Given the description of an element on the screen output the (x, y) to click on. 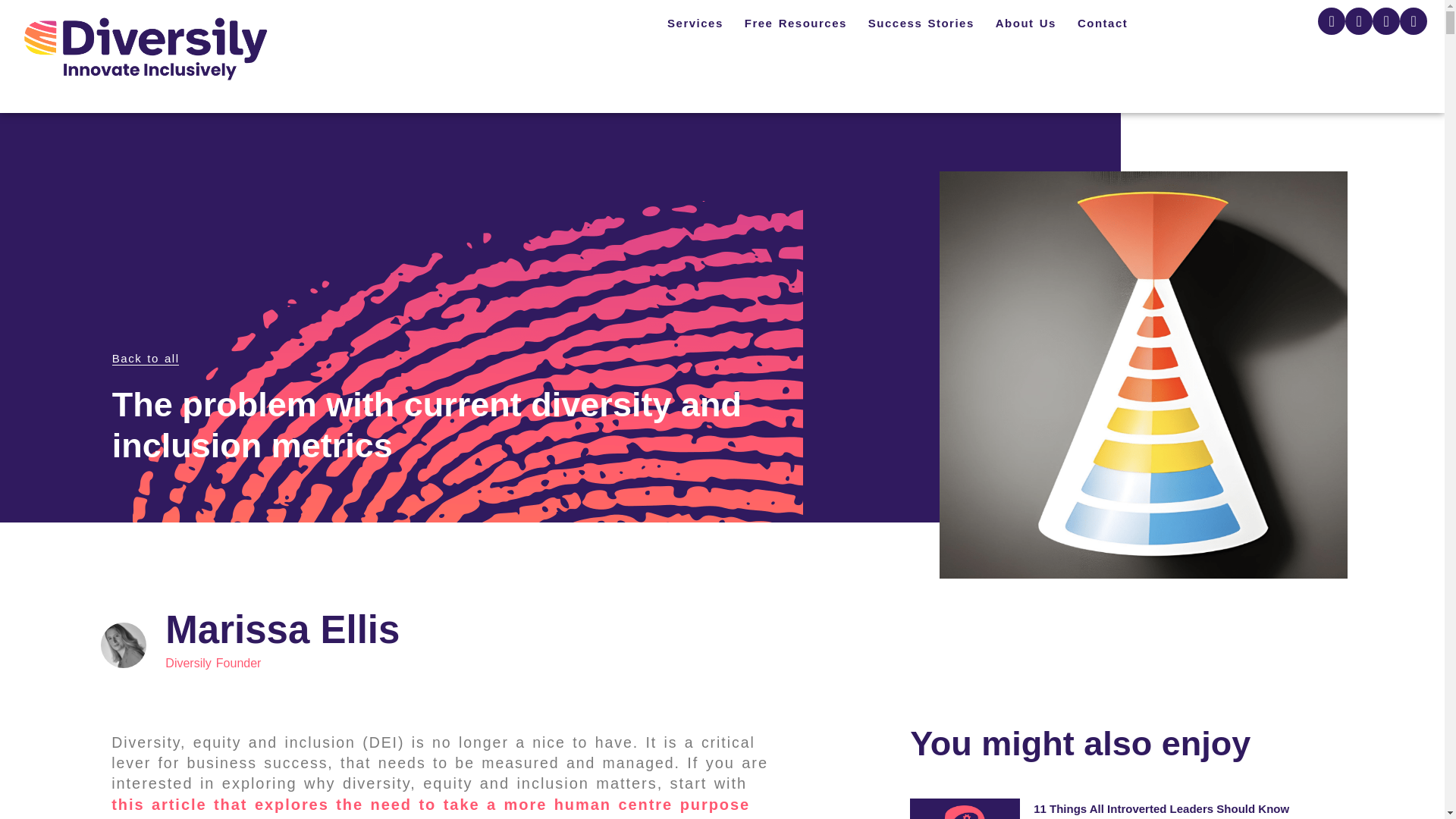
Free Resources (795, 23)
Success Stories (921, 23)
Services (694, 23)
About Us (1026, 23)
Contact (1102, 23)
